Given the description of an element on the screen output the (x, y) to click on. 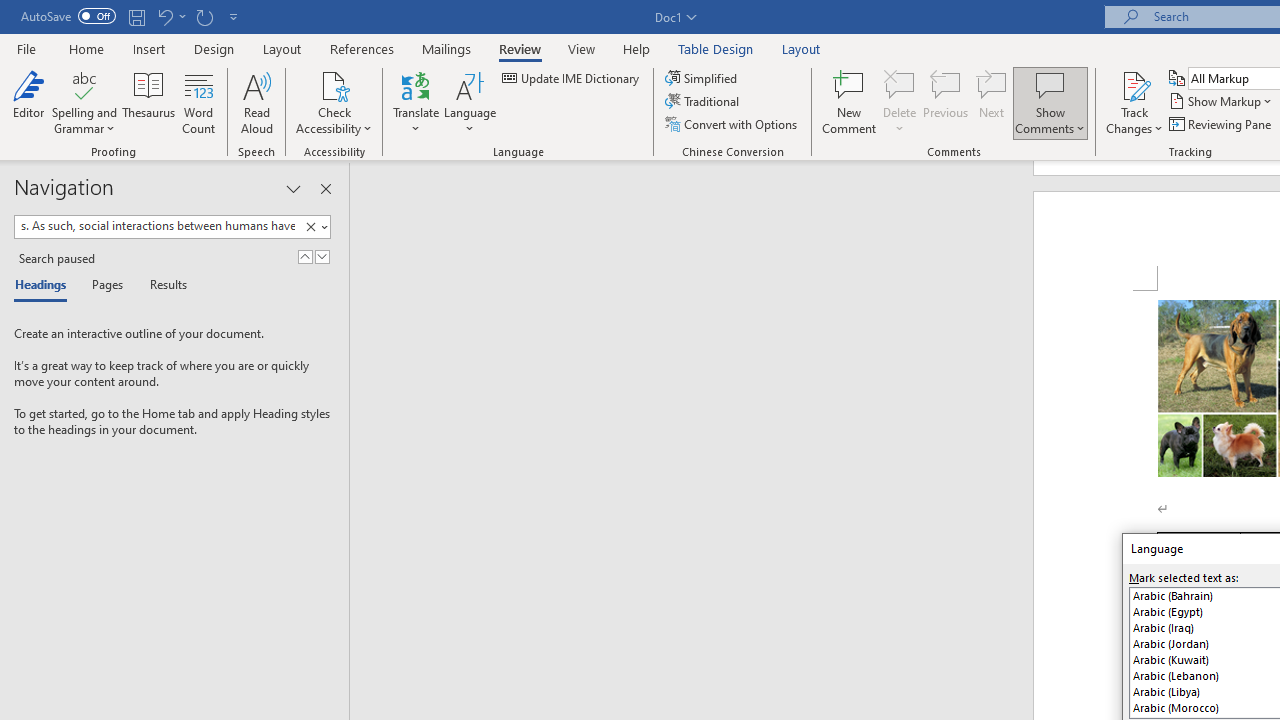
Next (991, 102)
Check Accessibility (334, 84)
Read Aloud (256, 102)
Show Comments (1050, 84)
Repeat Style (204, 15)
Translate (415, 102)
Clear (310, 227)
Traditional (703, 101)
